Given the description of an element on the screen output the (x, y) to click on. 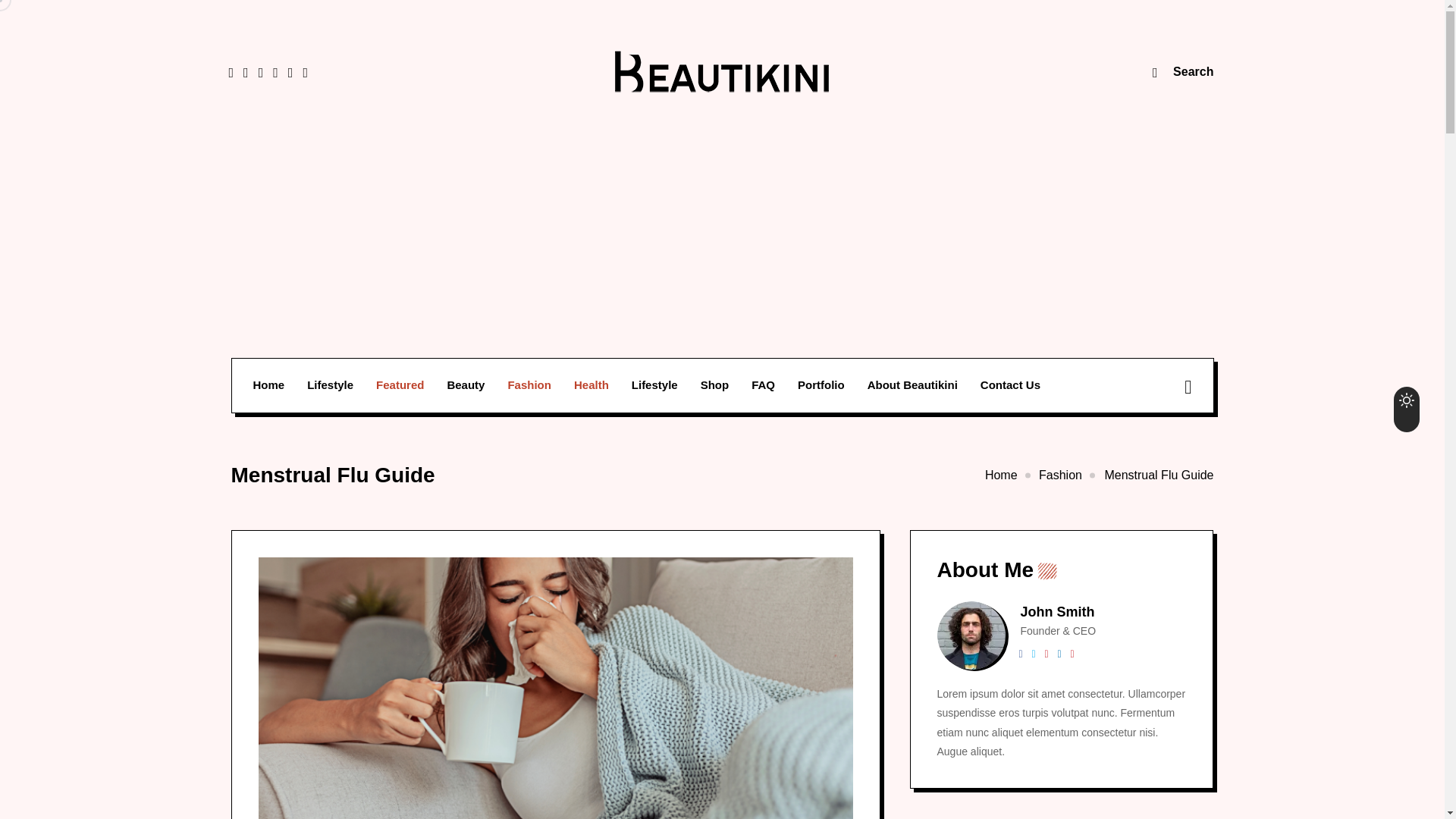
Search (1182, 71)
About Beautikini (912, 385)
Contact Us (1010, 385)
Contact Us (1010, 385)
Featured (399, 385)
About Beautikini (912, 385)
Portfolio (820, 385)
Portfolio (820, 385)
Featured (399, 385)
